Given the description of an element on the screen output the (x, y) to click on. 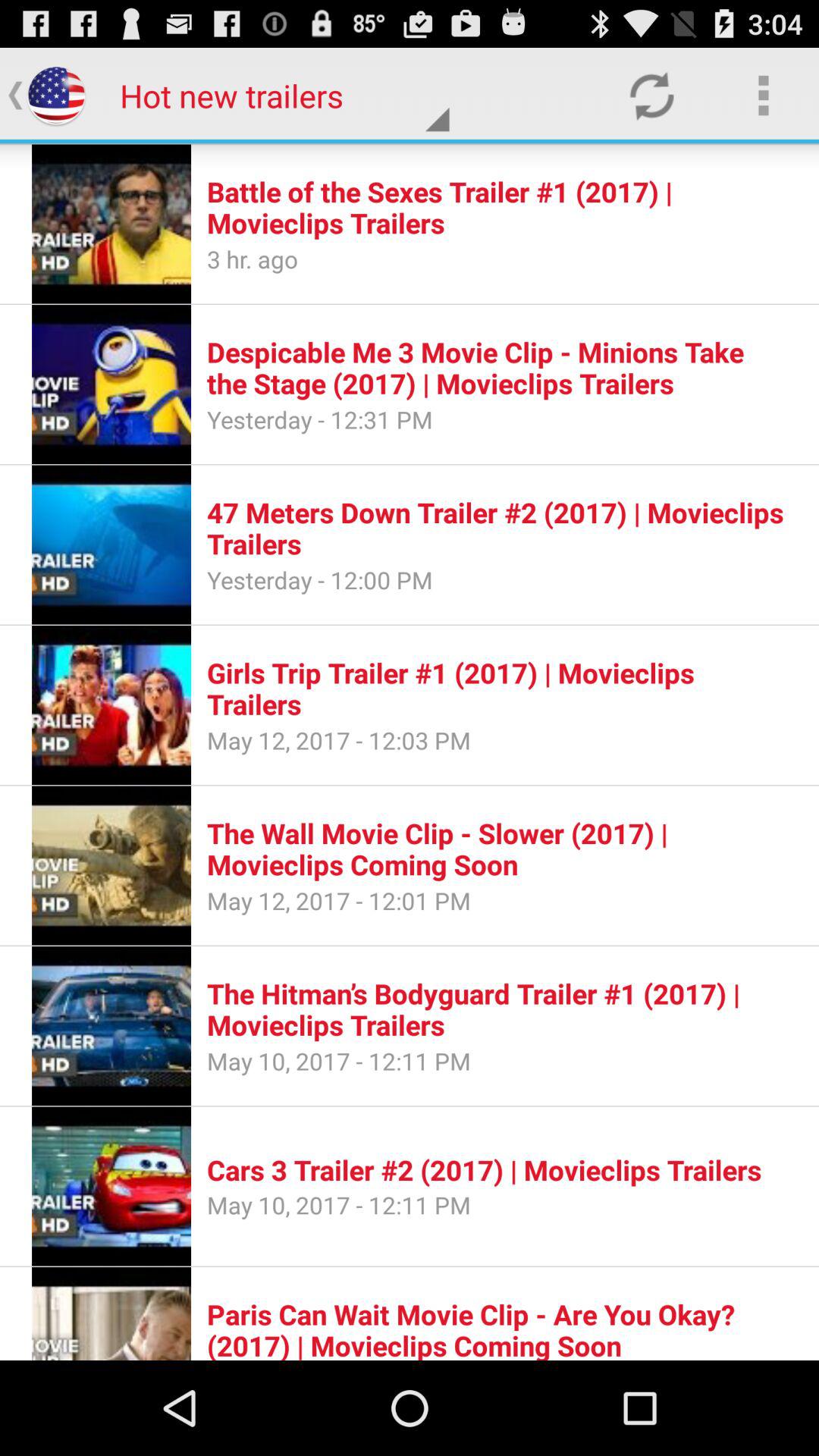
open app above the battle of the app (651, 95)
